Given the description of an element on the screen output the (x, y) to click on. 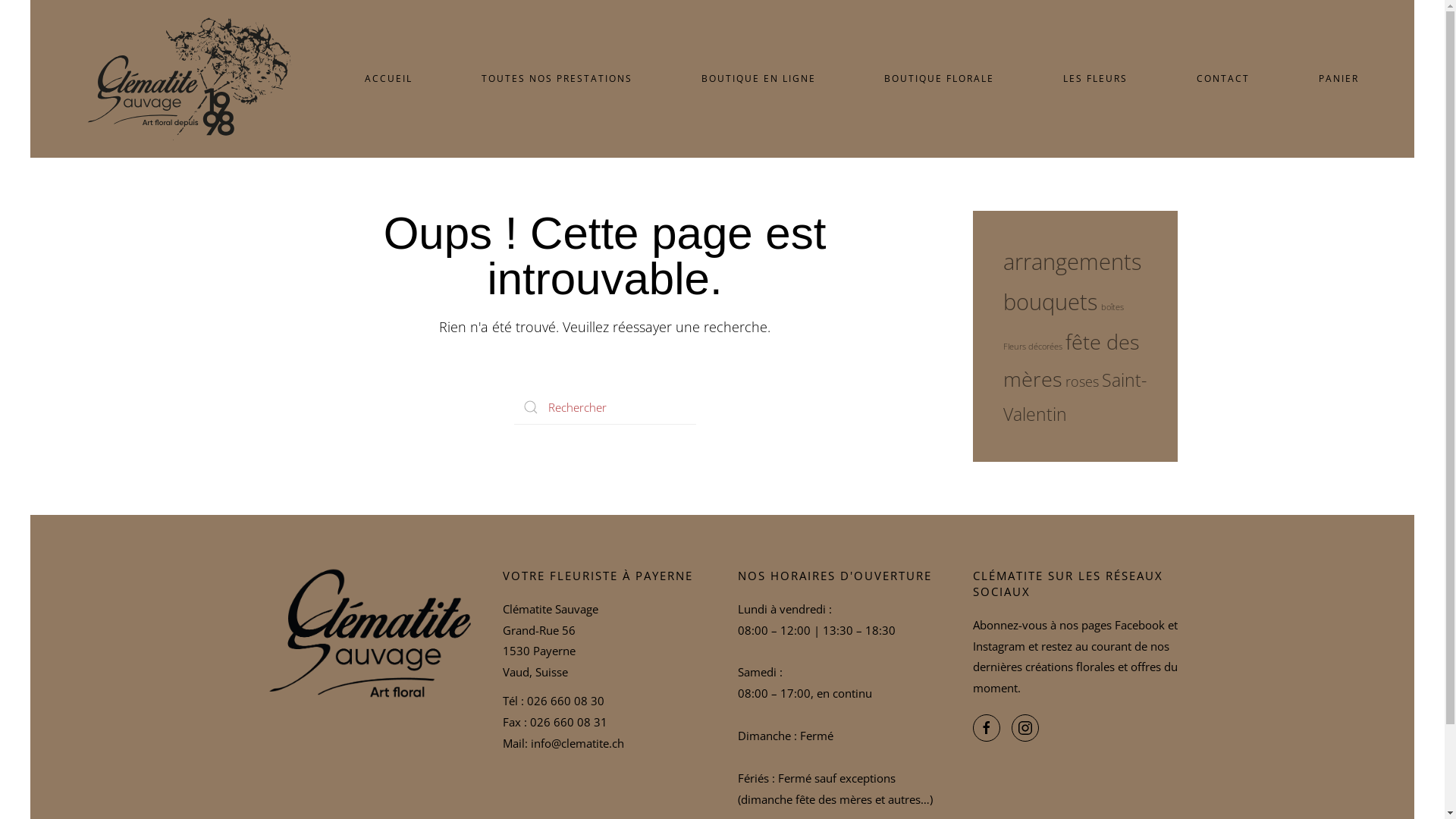
bouquets Element type: text (1049, 301)
Saint-Valentin Element type: text (1073, 396)
arrangements Element type: text (1071, 261)
roses Element type: text (1081, 381)
TOUTES NOS PRESTATIONS Element type: text (556, 78)
LES FLEURS Element type: text (1095, 78)
ACCUEIL Element type: text (389, 78)
PANIER Element type: text (1339, 78)
BOUTIQUE EN LIGNE Element type: text (757, 78)
BOUTIQUE FLORALE Element type: text (939, 78)
CONTACT Element type: text (1223, 78)
